Given the description of an element on the screen output the (x, y) to click on. 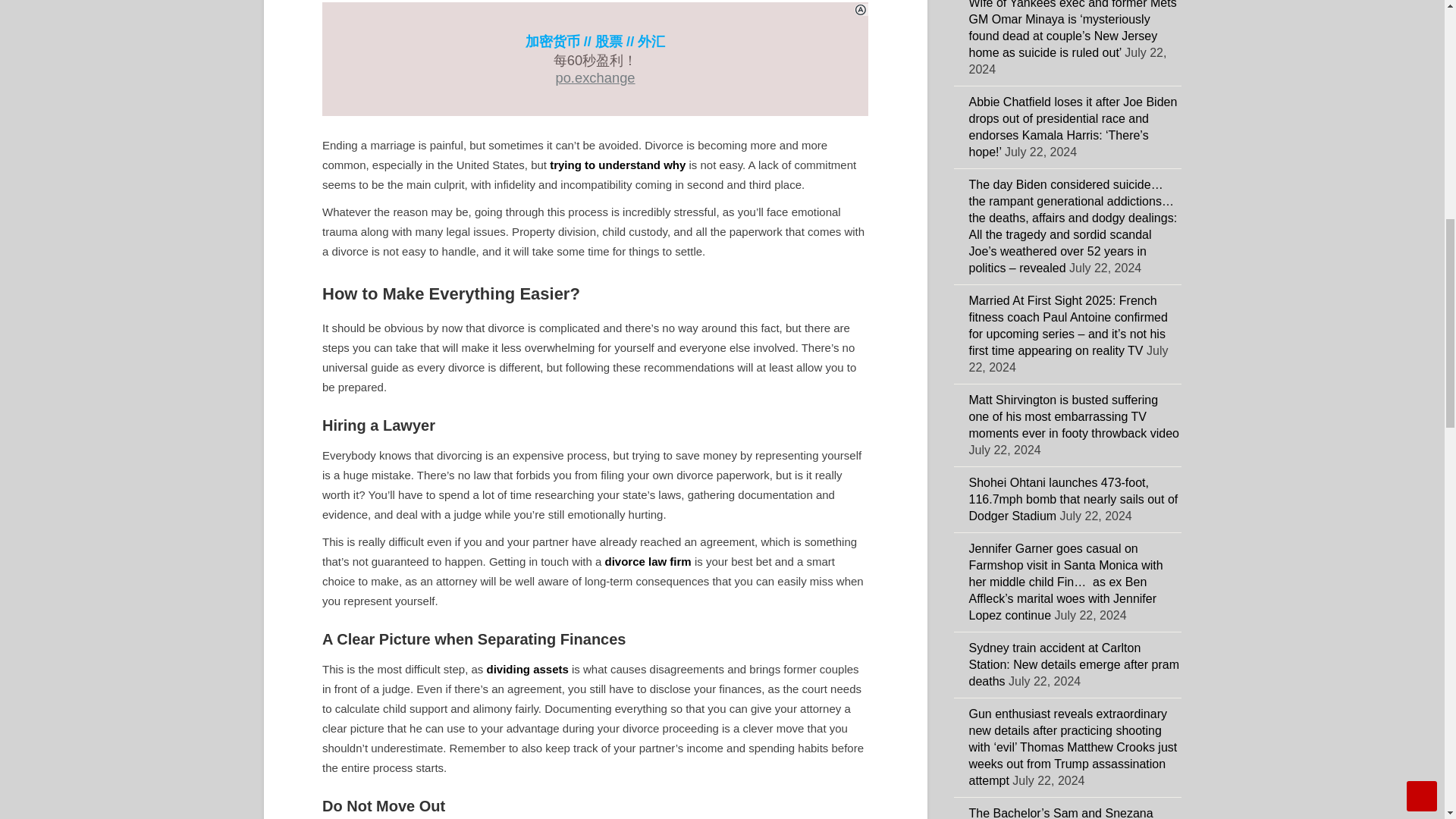
dividing assets (526, 668)
trying to understand why (617, 164)
divorce law firm (648, 561)
